Given the description of an element on the screen output the (x, y) to click on. 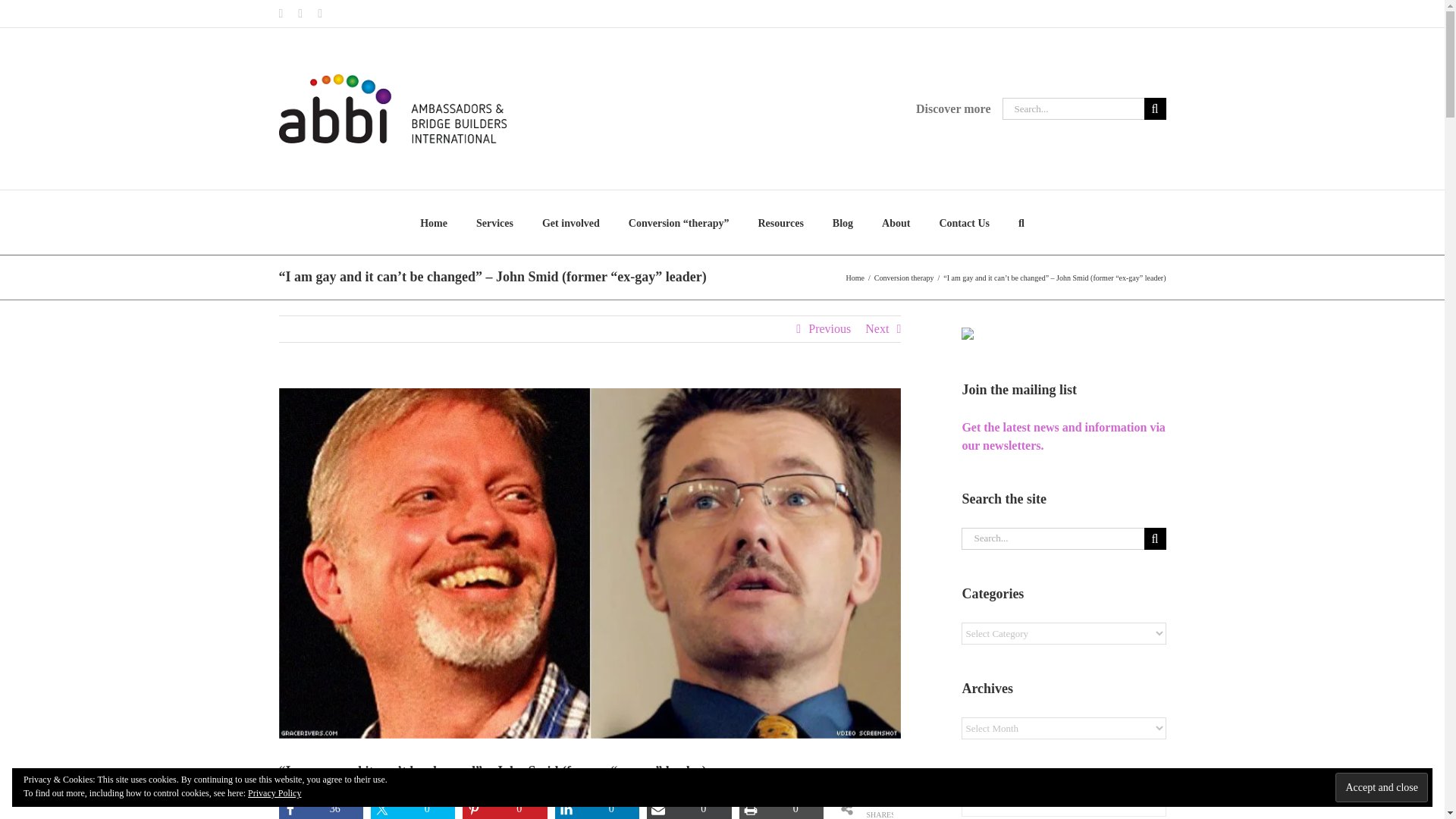
Accept and close (1381, 787)
Share on LinkedIn (596, 807)
Share on Twitter (412, 807)
Share on Pinterest (505, 807)
Share on Facebook (320, 807)
Get involved (570, 221)
0 (688, 807)
Share via Email (688, 807)
